Given the description of an element on the screen output the (x, y) to click on. 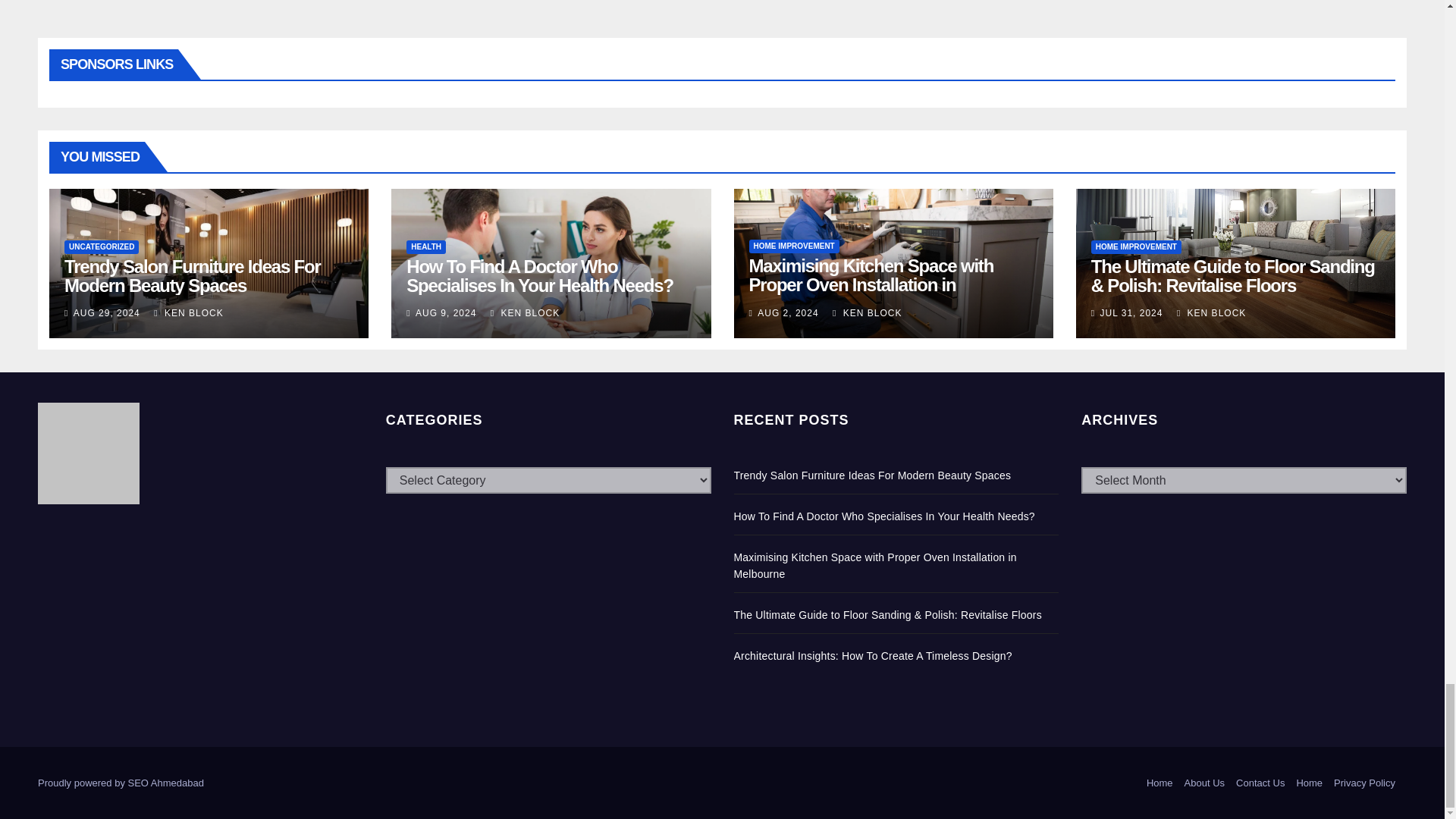
Home (1160, 782)
